Given the description of an element on the screen output the (x, y) to click on. 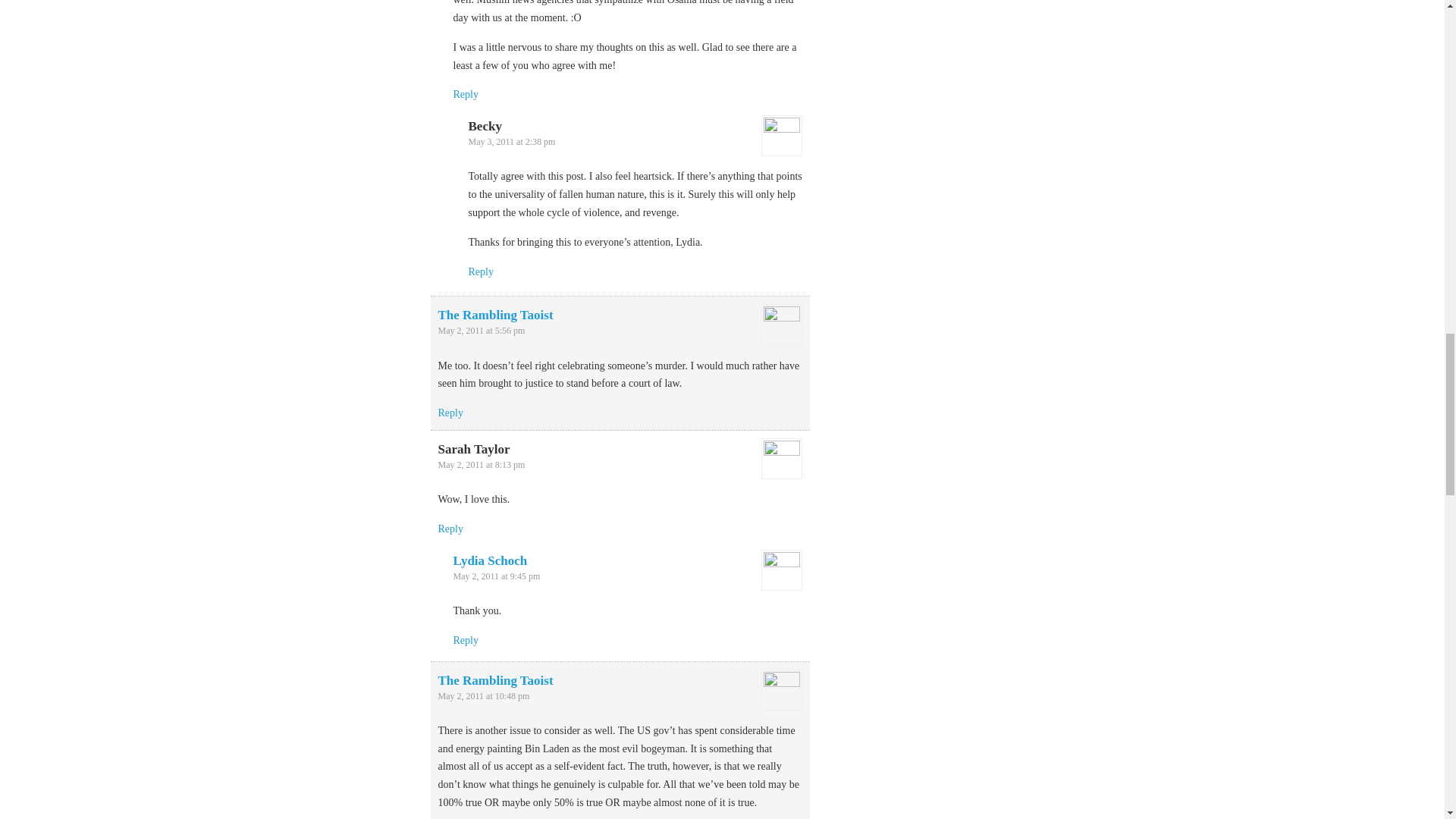
Reply (465, 640)
Reply (465, 93)
The Rambling Taoist (495, 314)
May 2, 2011 at 10:48 pm (483, 696)
Reply (450, 412)
May 2, 2011 at 8:13 pm (481, 464)
Lydia Schoch (489, 560)
Reply (480, 271)
Reply (450, 528)
May 2, 2011 at 5:56 pm (481, 330)
May 2, 2011 at 9:45 pm (496, 575)
The Rambling Taoist (495, 680)
May 3, 2011 at 2:38 pm (512, 141)
